Given the description of an element on the screen output the (x, y) to click on. 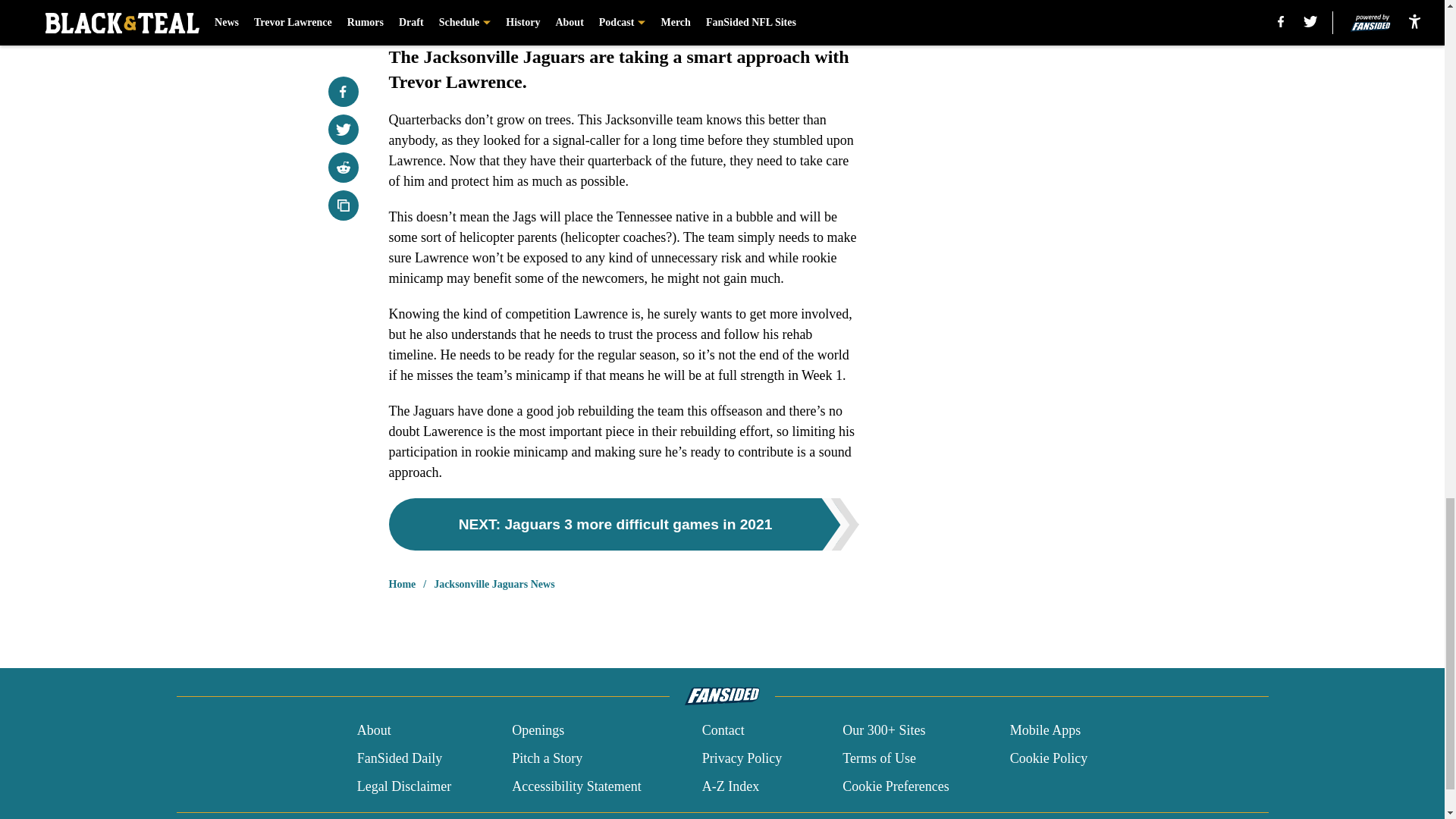
Home (401, 584)
FanSided Daily (399, 758)
Mobile Apps (1045, 730)
Openings (538, 730)
Privacy Policy (742, 758)
About (373, 730)
NEXT: Jaguars 3 more difficult games in 2021 (623, 523)
Jacksonville Jaguars News (493, 584)
Pitch a Story (547, 758)
Contact (722, 730)
